Given the description of an element on the screen output the (x, y) to click on. 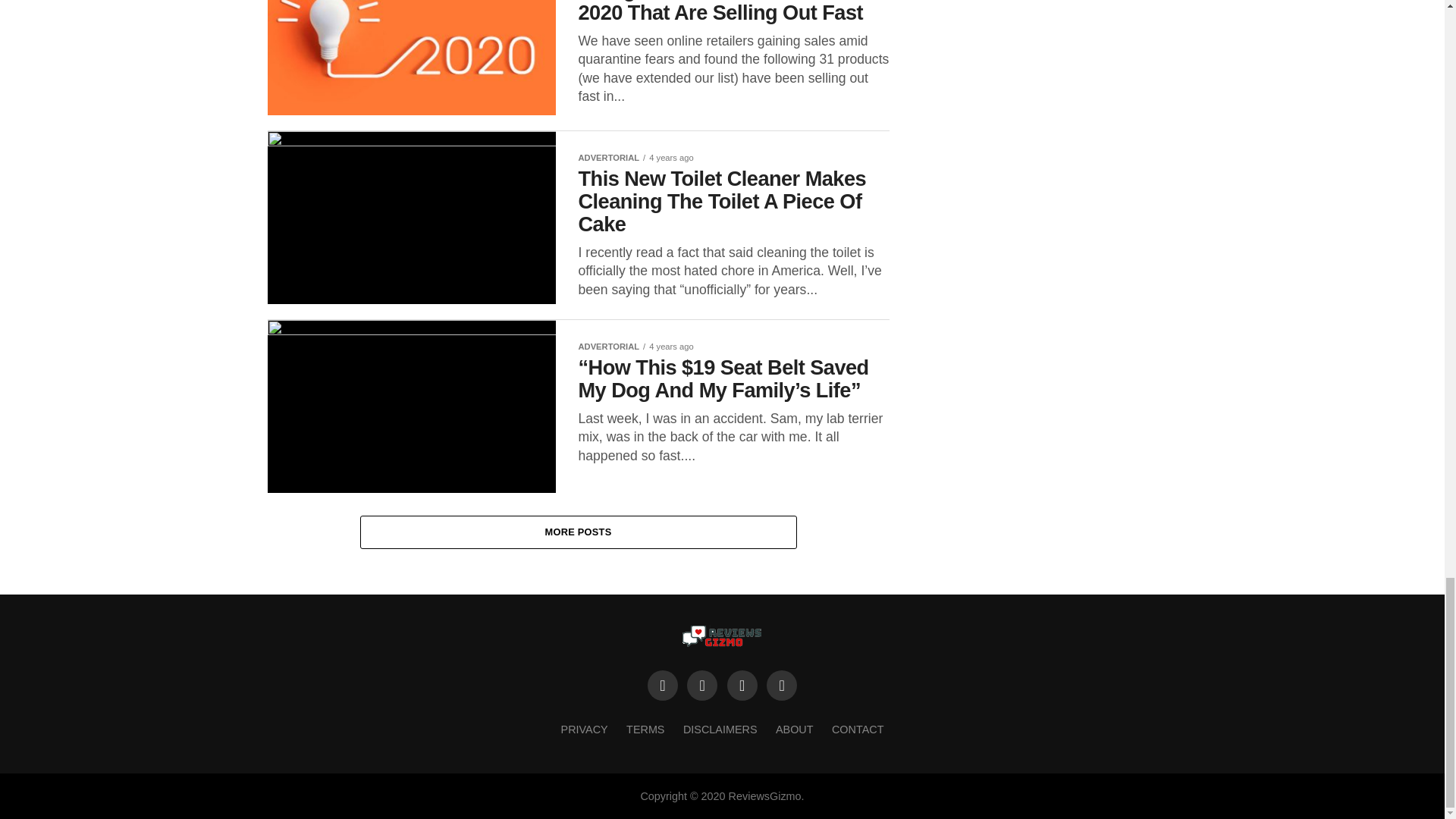
MORE POSTS (577, 532)
